Given the description of an element on the screen output the (x, y) to click on. 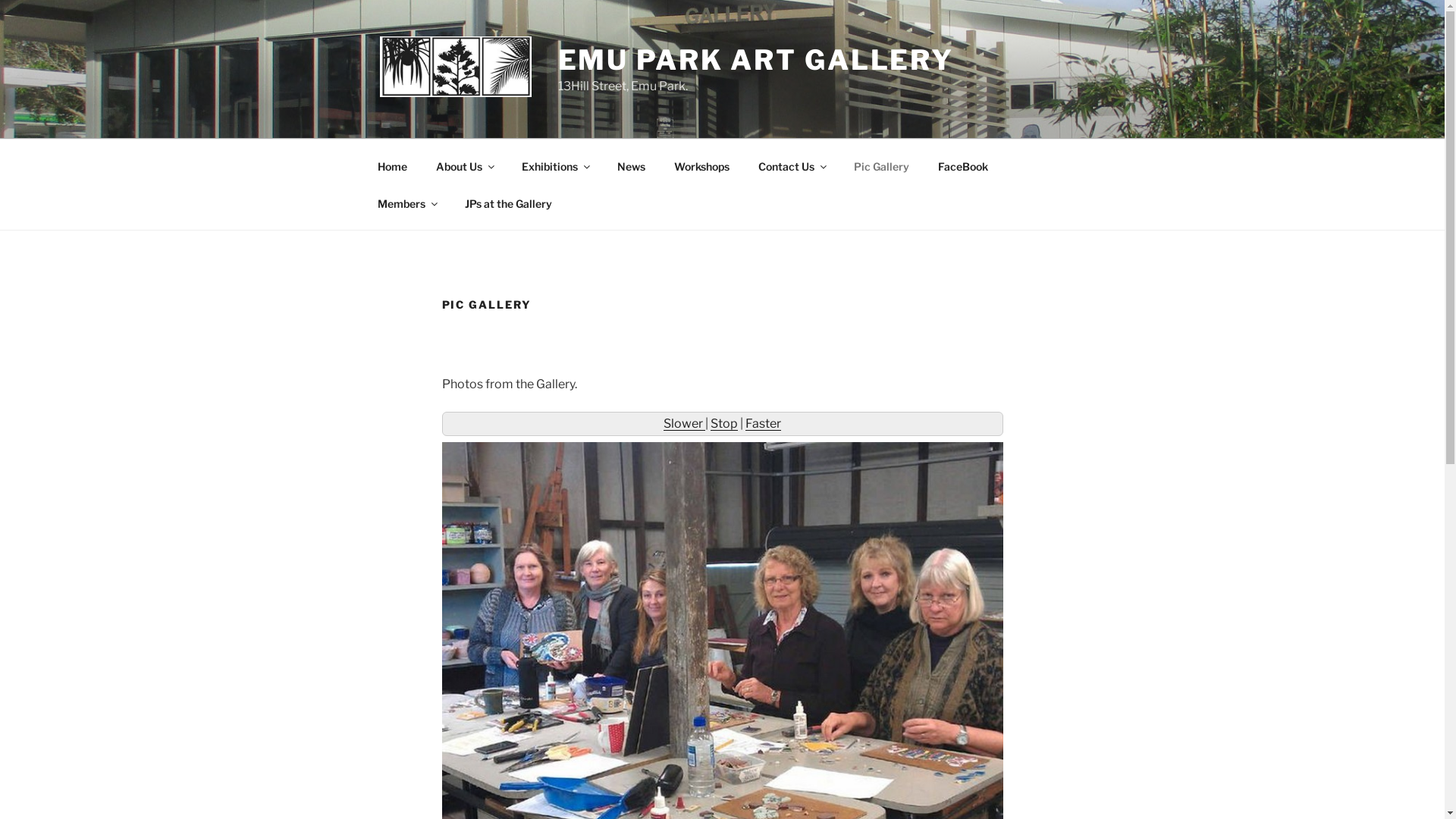
About Us Element type: text (464, 165)
Stop Element type: text (723, 423)
JPs at the Gallery Element type: text (508, 203)
Slower Element type: text (684, 423)
Faster Element type: text (763, 423)
Workshops Element type: text (702, 165)
EMU PARK ART GALLERY Element type: text (756, 59)
Home Element type: text (392, 165)
FaceBook Element type: text (963, 165)
Pic Gallery Element type: text (881, 165)
News Element type: text (630, 165)
Members Element type: text (406, 203)
Contact Us Element type: text (790, 165)
Exhibitions Element type: text (554, 165)
